Given the description of an element on the screen output the (x, y) to click on. 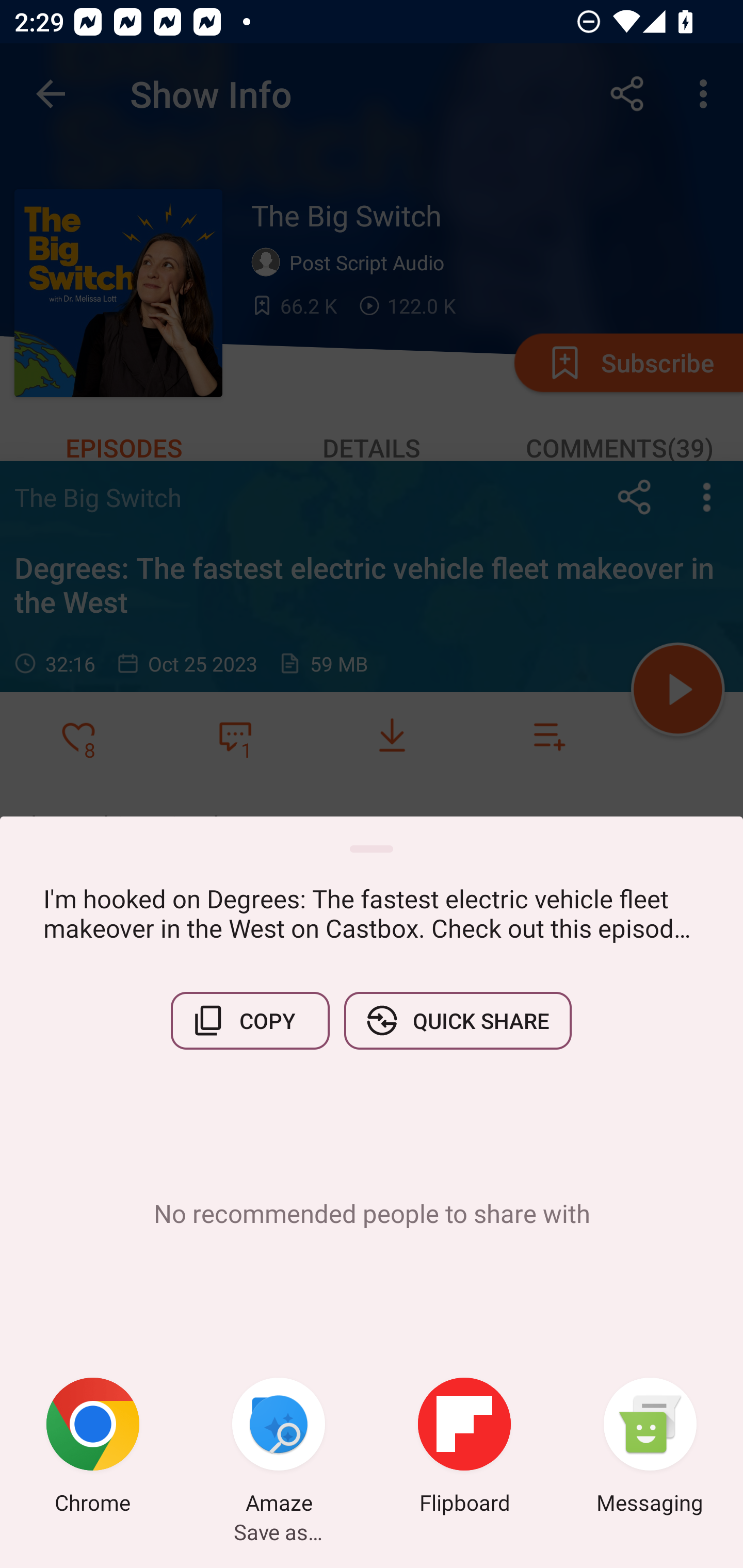
COPY (249, 1020)
QUICK SHARE (457, 1020)
Chrome (92, 1448)
Amaze Save as… (278, 1448)
Flipboard (464, 1448)
Messaging (650, 1448)
